Given the description of an element on the screen output the (x, y) to click on. 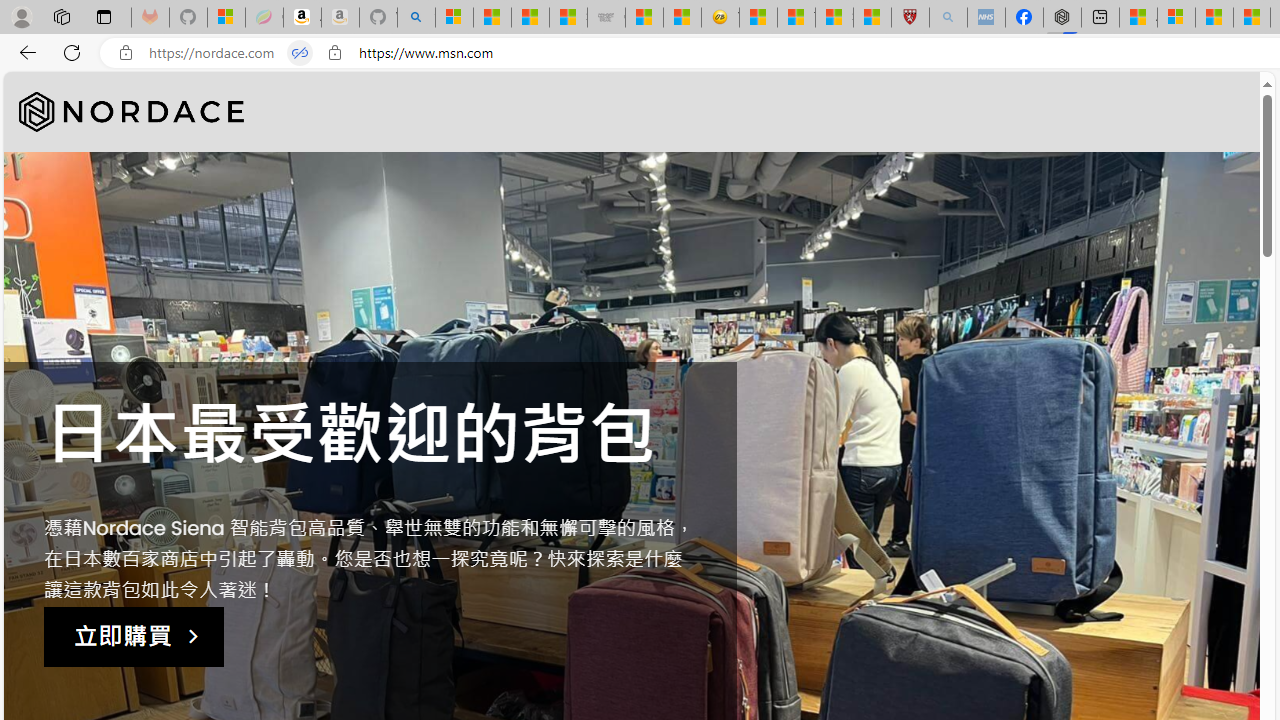
Robert H. Shmerling, MD - Harvard Health (910, 17)
Stocks - MSN (568, 17)
Nordace - Nordace Siena Is Not An Ordinary Backpack (1062, 17)
